Given the description of an element on the screen output the (x, y) to click on. 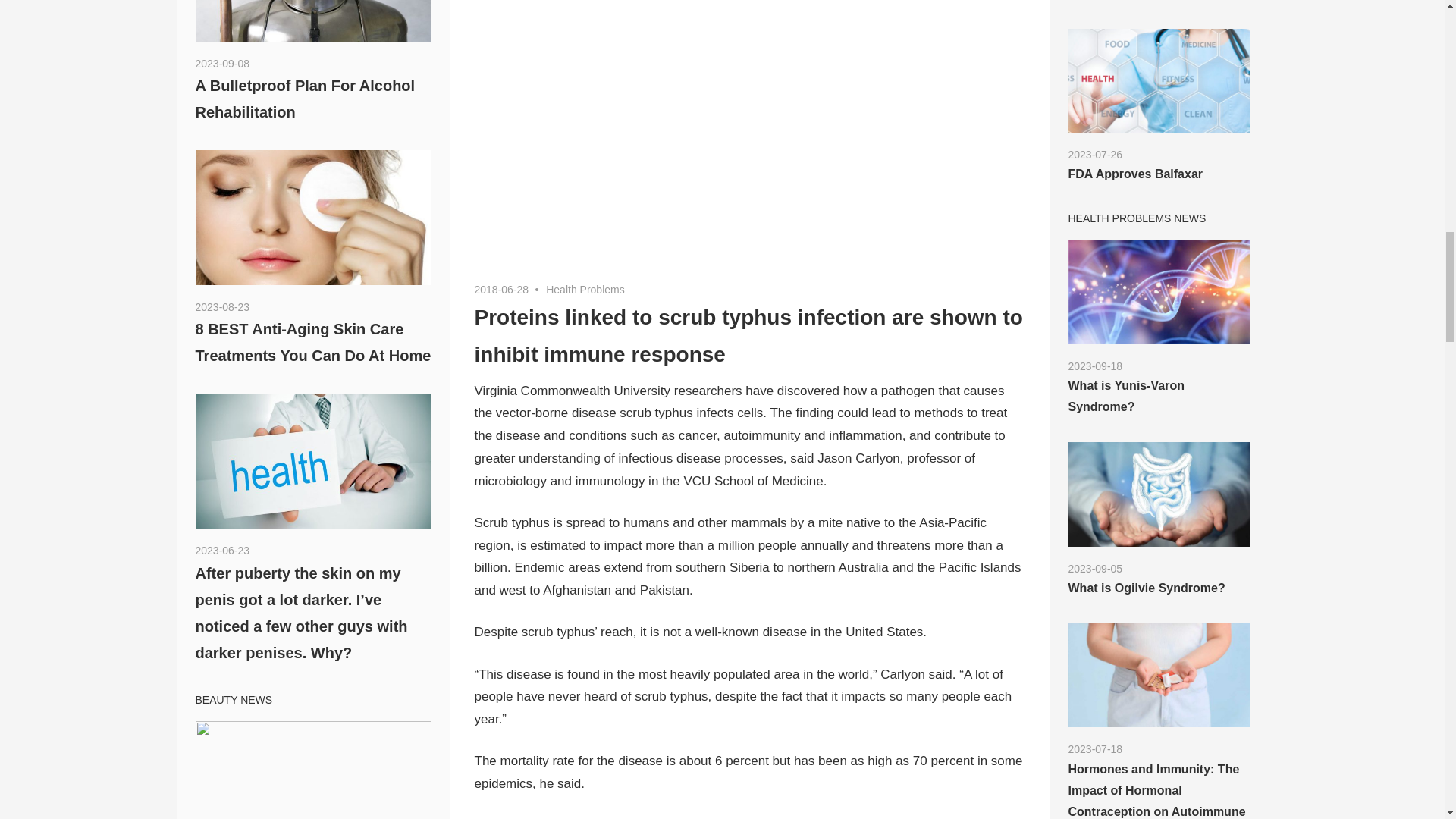
23:31 (222, 550)
16:08 (501, 289)
2023-09-08 (222, 63)
Health Problems (585, 289)
A Bulletproof Plan For Alcohol Rehabilitation (304, 98)
09:29 (222, 63)
07:40 (222, 306)
2018-06-28 (501, 289)
2023-08-23 (222, 306)
